Given the description of an element on the screen output the (x, y) to click on. 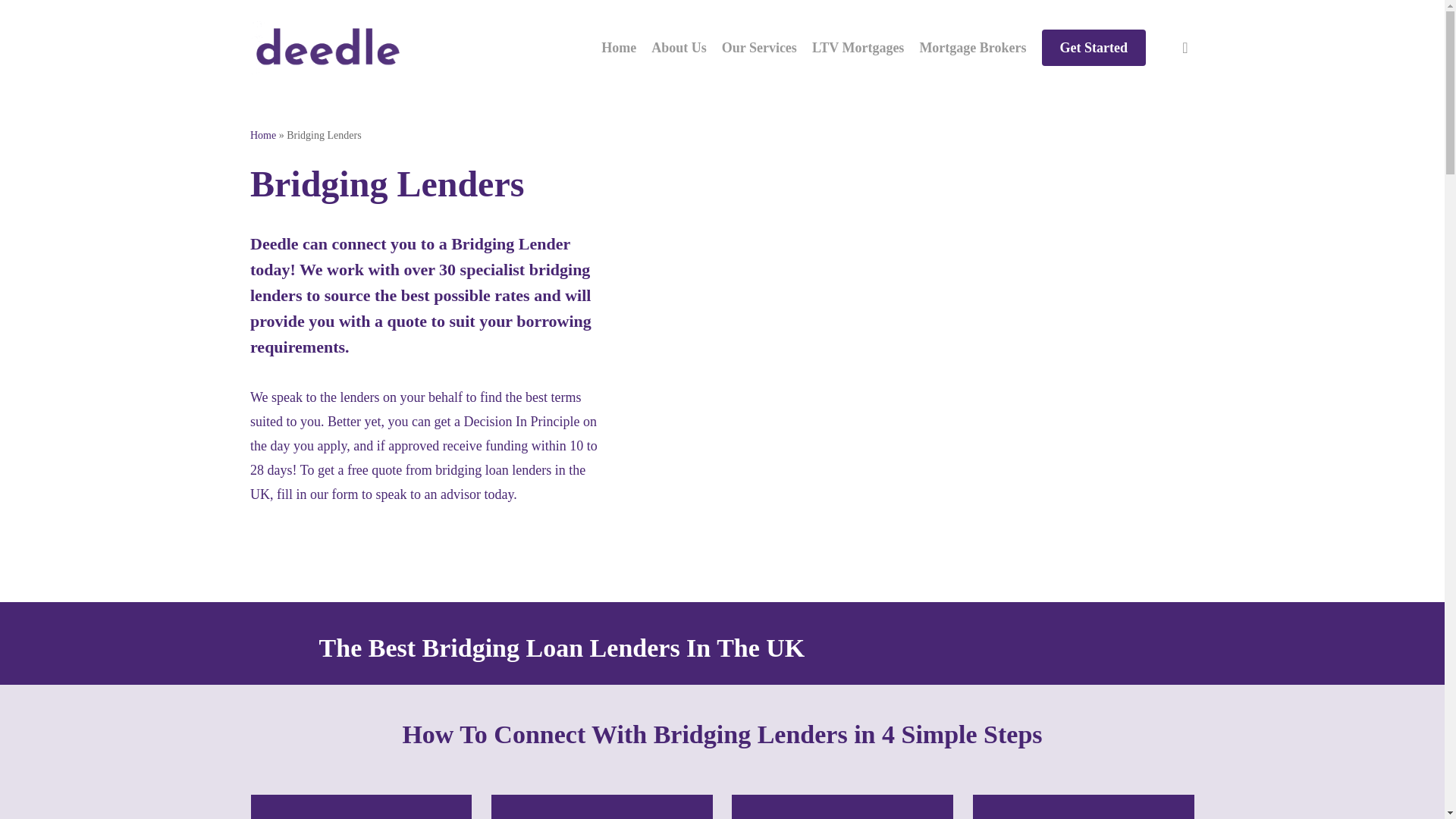
LTV Mortgages (858, 47)
Submit (701, 585)
Get Started (1093, 47)
Mortgage Brokers (972, 47)
Our Services (759, 47)
About Us (678, 47)
Home (618, 47)
Home (263, 134)
search (1184, 47)
